Given the description of an element on the screen output the (x, y) to click on. 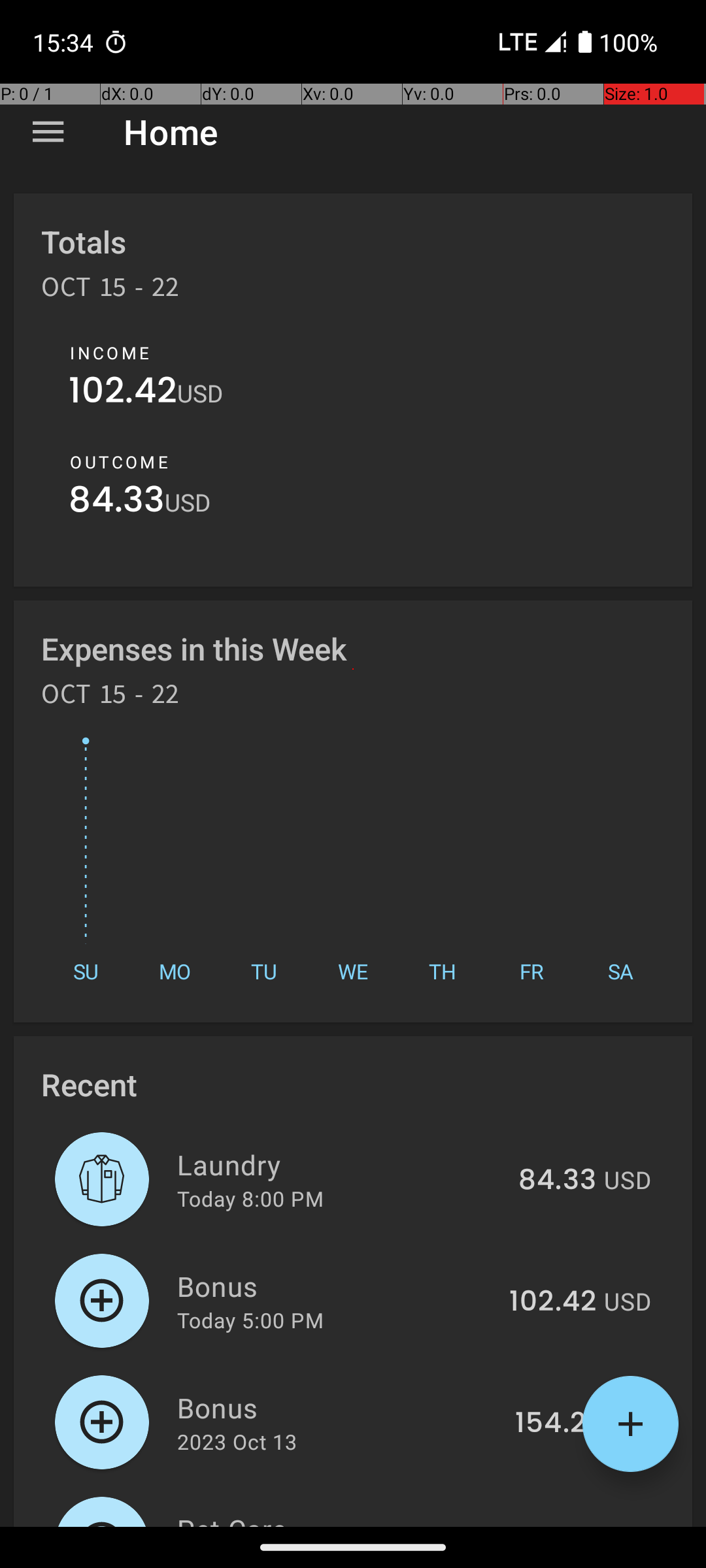
102.42 Element type: android.widget.TextView (122, 393)
84.33 Element type: android.widget.TextView (116, 502)
Laundry Element type: android.widget.TextView (340, 1164)
Today 8:00 PM Element type: android.widget.TextView (250, 1198)
Bonus Element type: android.widget.TextView (335, 1285)
154.21 Element type: android.widget.TextView (555, 1423)
Pet Care Element type: android.widget.TextView (348, 1518)
11.73 Element type: android.widget.TextView (565, 1524)
